Given the description of an element on the screen output the (x, y) to click on. 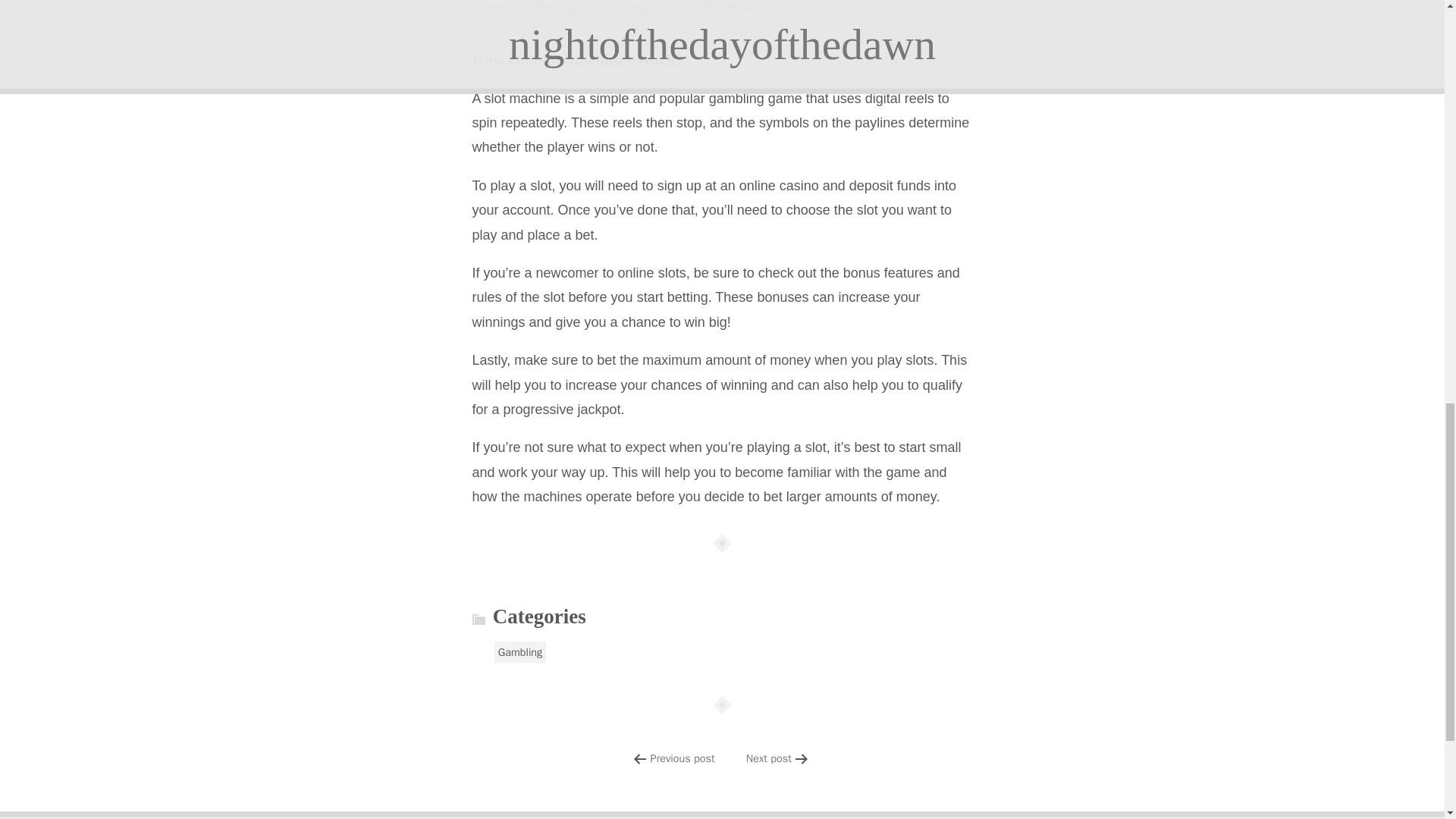
Previous post (682, 757)
Next post (768, 757)
Gambling (521, 651)
